Given the description of an element on the screen output the (x, y) to click on. 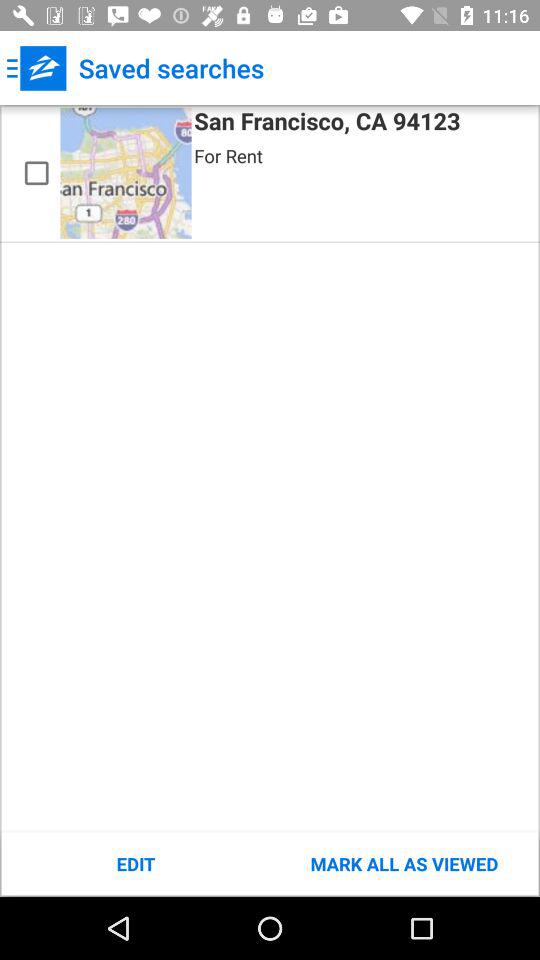
flip until the mark all as icon (404, 863)
